Given the description of an element on the screen output the (x, y) to click on. 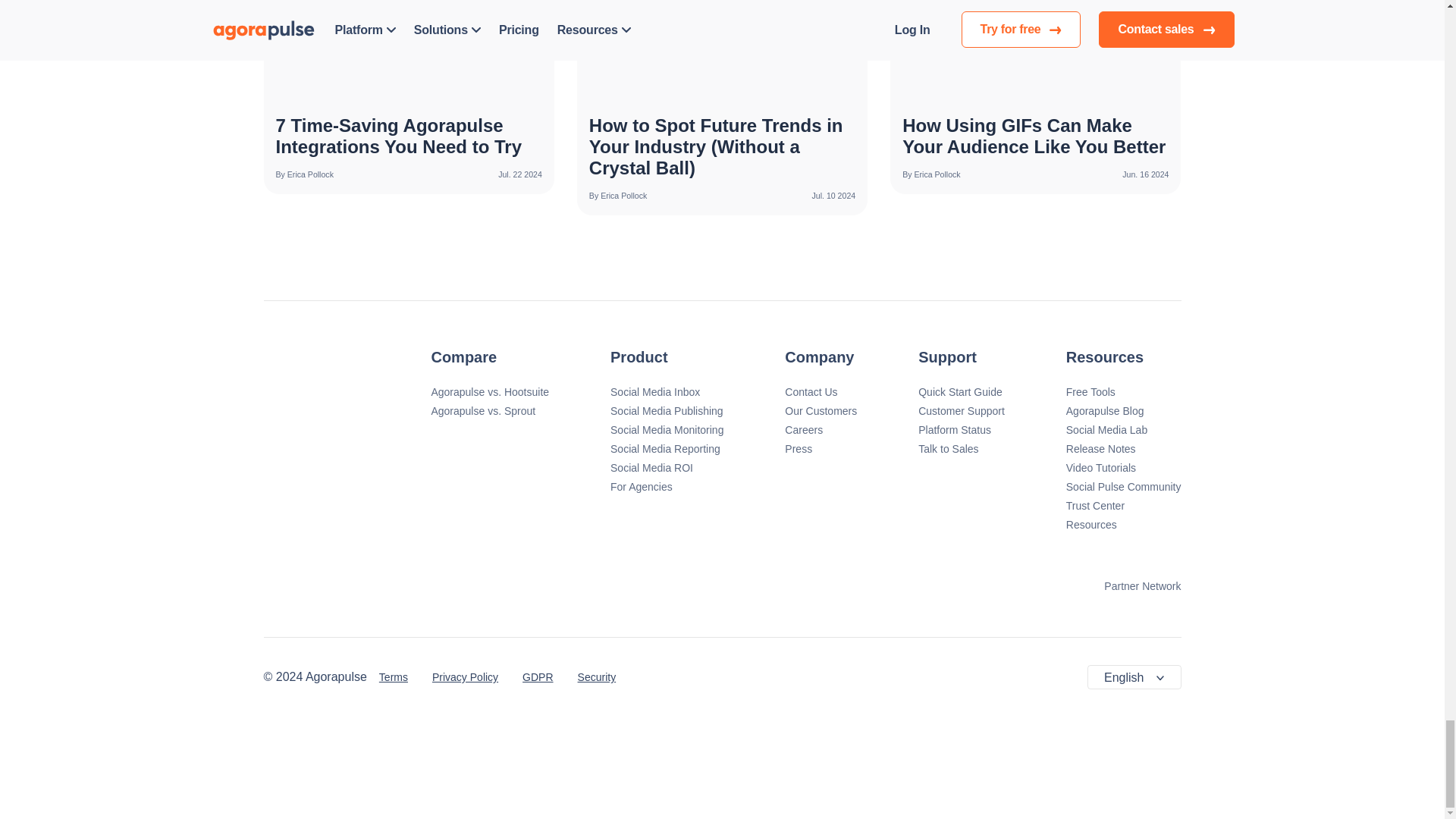
Agorapulse LinkedIn company page (811, 676)
AWS Partner Network (1131, 586)
Agorapulse Instagram profile (676, 676)
Meta Business Partner (1039, 586)
Agorapulse Facebook page (642, 676)
Agorapulse YouTube channel (744, 676)
Agorapulse Pinterest account (777, 676)
App Store (479, 584)
TikTok Marketing Partner badge (956, 586)
App Google Play (334, 584)
Agorapulse TikTok profile (844, 676)
